Given the description of an element on the screen output the (x, y) to click on. 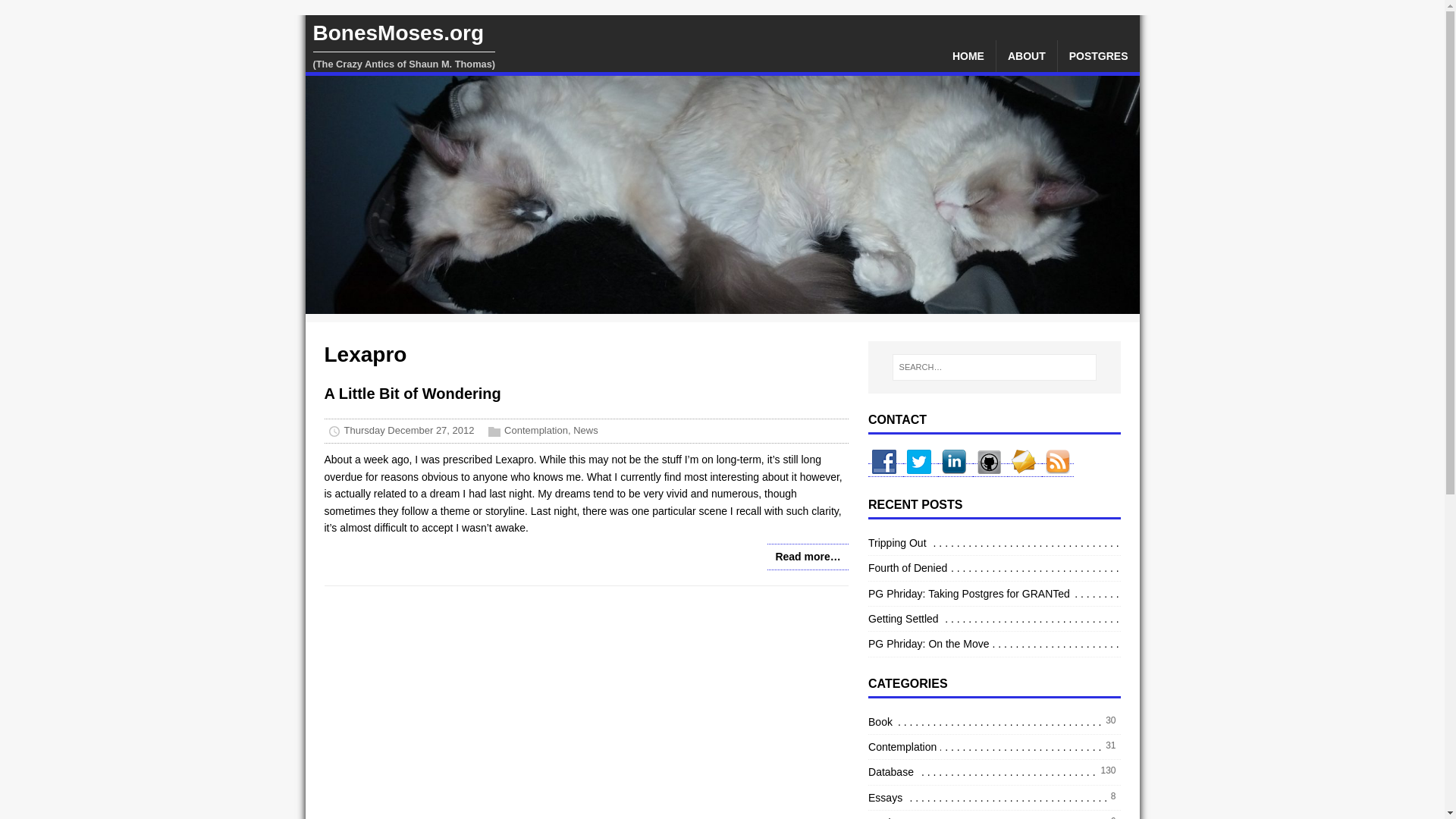
Facebook (884, 469)
Search (56, 14)
HOME (967, 56)
Contemplation (535, 430)
Essays (886, 797)
Fourth of Denied (908, 567)
Book (881, 721)
ABOUT (1026, 56)
Contemplation (903, 746)
News (585, 430)
Twitter (919, 469)
POSTGRES (1099, 56)
GitHub (989, 469)
LinkedIn (954, 469)
RSS (1058, 469)
